Given the description of an element on the screen output the (x, y) to click on. 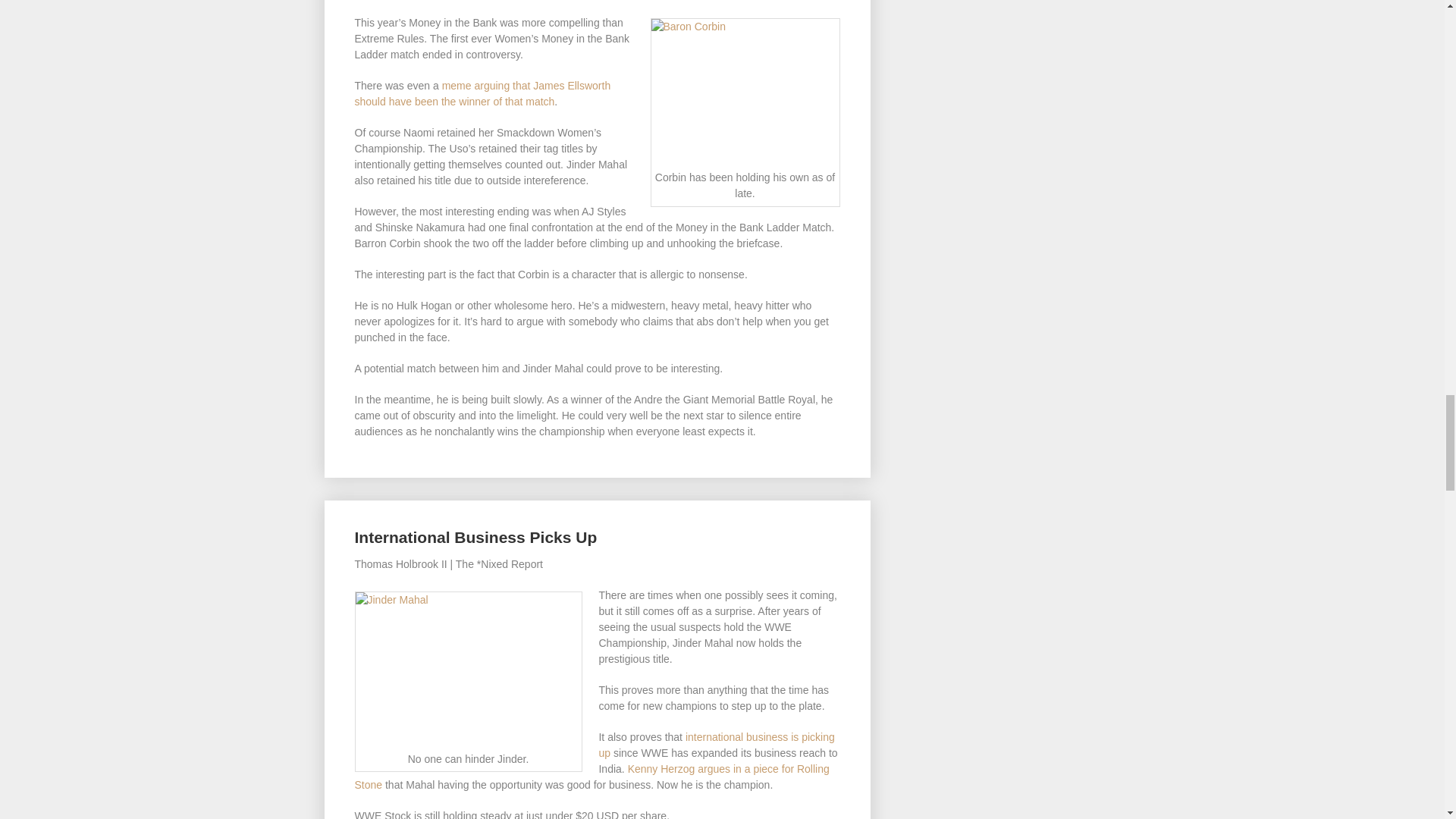
International Business Picks Up (475, 537)
international business is picking up (716, 745)
International Business Picks Up (475, 537)
